Given the description of an element on the screen output the (x, y) to click on. 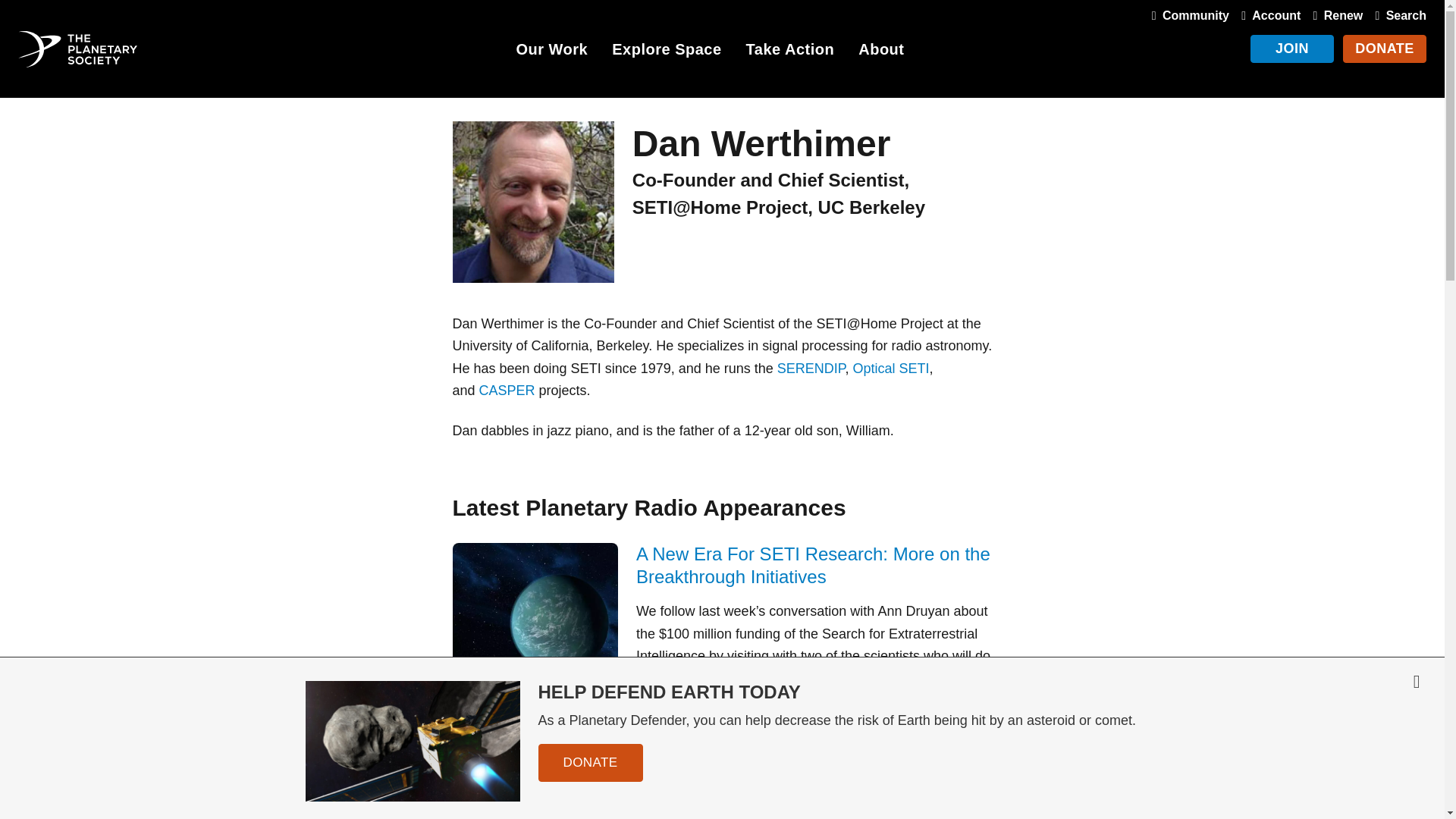
Community (1186, 15)
Explore Space (665, 51)
About (881, 51)
DONATE (1384, 49)
JOIN (1291, 49)
Account (1267, 15)
Our Work (551, 51)
Take Action (789, 51)
Renew (1334, 15)
Search (1397, 15)
